Given the description of an element on the screen output the (x, y) to click on. 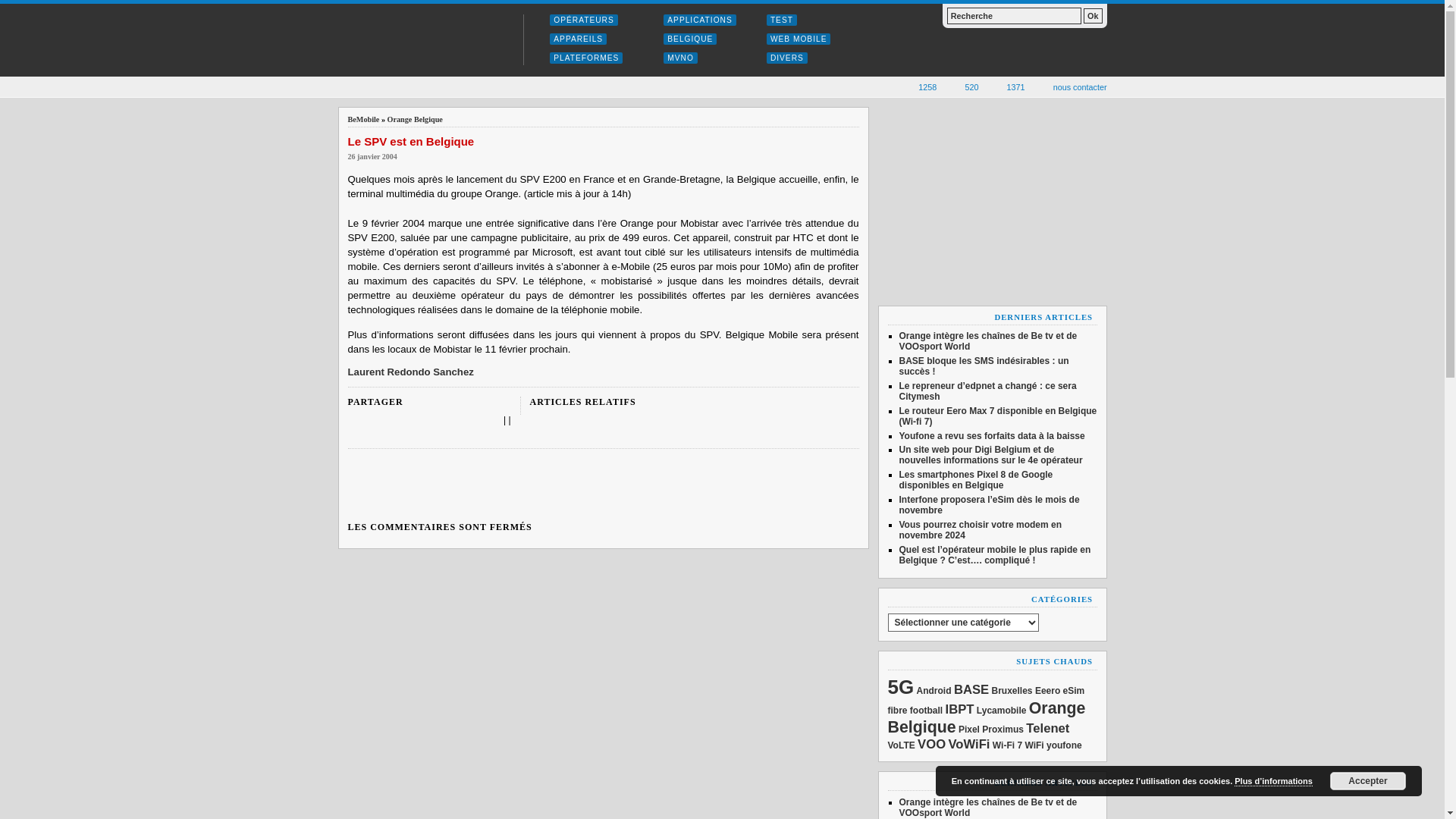
DIVERS Element type: text (786, 57)
Wi-Fi 7 Element type: text (1007, 745)
Telenet Element type: text (1047, 728)
Lycamobile Element type: text (1001, 710)
Orange Belgique Element type: text (986, 717)
WiFi Element type: text (1033, 745)
Ok Element type: text (1092, 15)
Advertisement Element type: hover (991, 201)
BELGIQUE Element type: text (689, 38)
Laurent Redondo Sanchez Element type: text (410, 371)
VoWiFi Element type: text (968, 744)
5G Element type: text (900, 686)
Les smartphones Pixel 8 de Google disponibles en Belgique Element type: text (976, 479)
BeMobile Element type: text (421, 39)
football Element type: text (926, 710)
APPAREILS Element type: text (577, 38)
Bruxelles Element type: text (1011, 690)
Proximus Element type: text (1002, 729)
Advertisement Element type: hover (603, 485)
eSim Element type: text (1074, 690)
Android Element type: text (933, 690)
1258 Element type: text (918, 85)
TEST Element type: text (781, 19)
fibre Element type: text (896, 710)
PLATEFORMES Element type: text (585, 57)
IBPT Element type: text (959, 709)
Accepter Element type: text (1367, 780)
nous contacter Element type: text (1071, 85)
APPLICATIONS Element type: text (699, 19)
Eeero Element type: text (1047, 690)
Vous pourrez choisir votre modem en novembre 2024 Element type: text (980, 529)
1371 Element type: text (1007, 85)
BeMobile Element type: text (363, 119)
Orange Belgique Element type: text (414, 119)
VOO Element type: text (931, 744)
MVNO Element type: text (680, 57)
Pixel Element type: text (968, 729)
BASE Element type: text (970, 689)
Le routeur Eero Max 7 disponible en Belgique (Wi-fi 7) Element type: text (998, 415)
Votre recherche Element type: hover (1014, 15)
VoLTE Element type: text (900, 745)
WEB MOBILE Element type: text (798, 38)
youfone Element type: text (1064, 745)
520 Element type: text (962, 85)
